Given the description of an element on the screen output the (x, y) to click on. 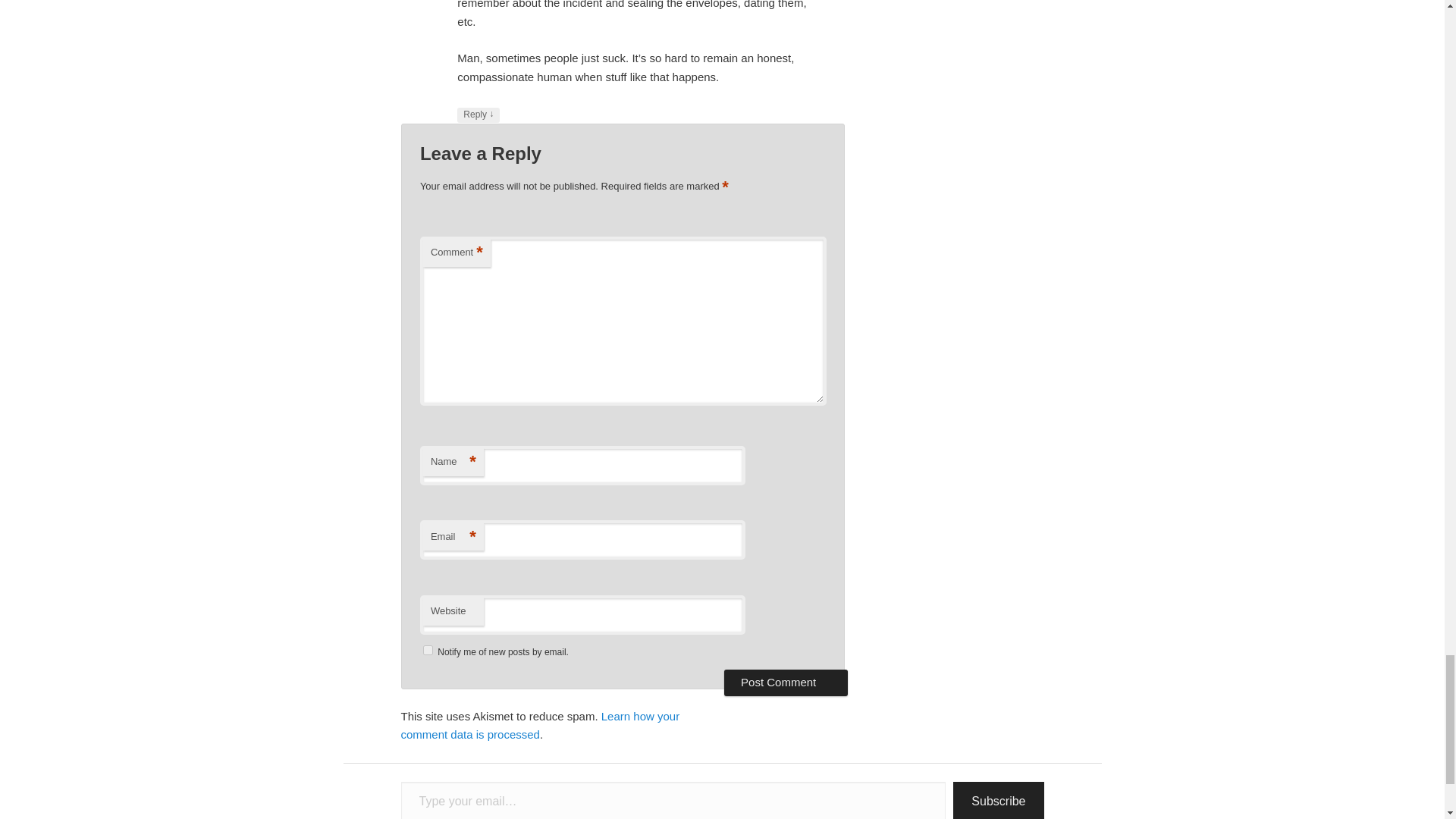
subscribe (427, 650)
Post Comment (785, 682)
